Given the description of an element on the screen output the (x, y) to click on. 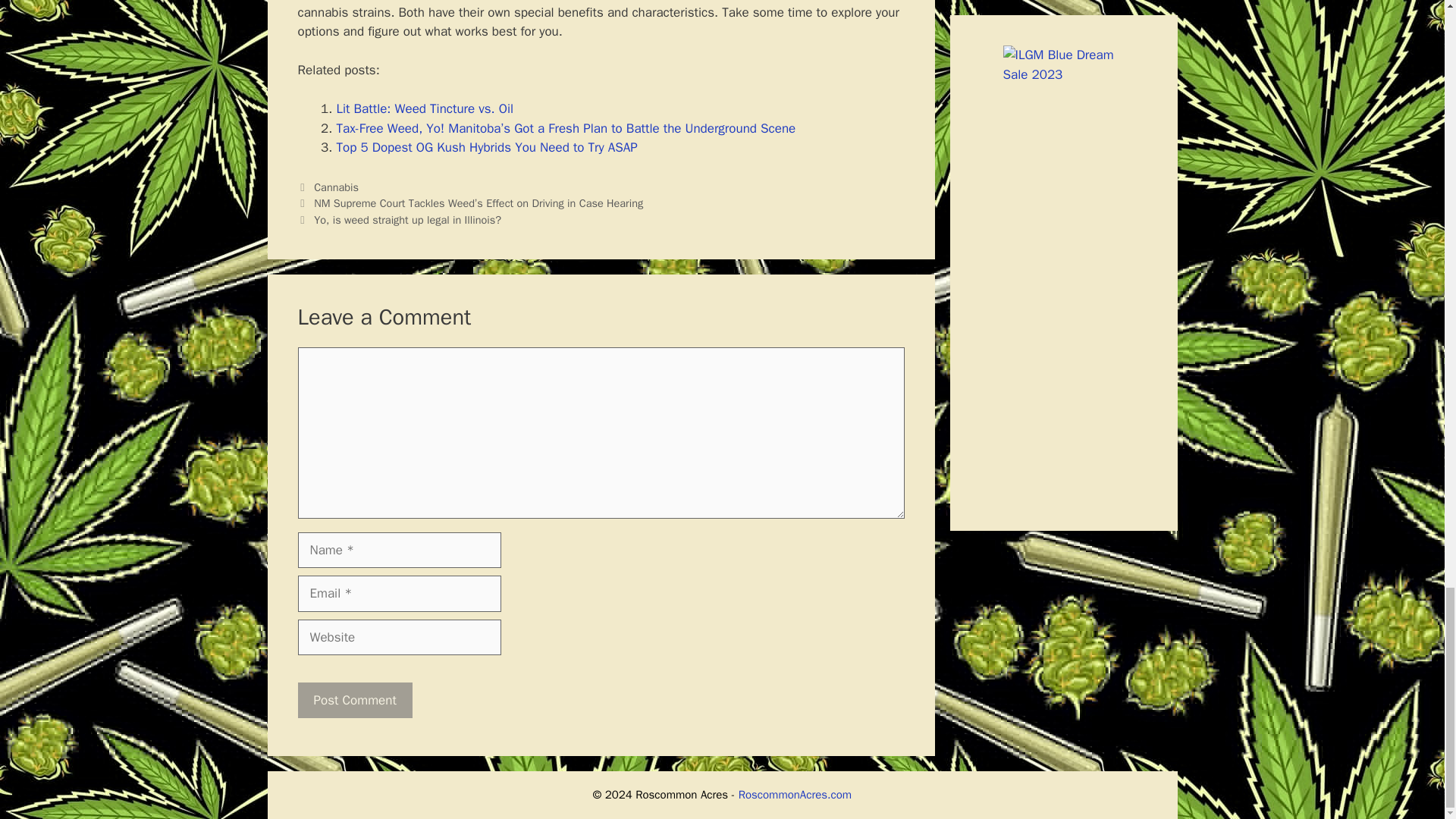
RoscommonAcres.com (794, 794)
Lit Battle: Weed Tincture vs. Oil (424, 108)
Lit Battle: Weed Tincture vs. Oil (424, 108)
Post Comment (354, 700)
Post Comment (354, 700)
Top 5 Dopest OG Kush Hybrids You Need to Try ASAP (486, 147)
Yo, is weed straight up legal in Illinois? (407, 219)
Top 5 Dopest OG Kush Hybrids You Need to Try ASAP (486, 147)
Cannabis (336, 187)
